Given the description of an element on the screen output the (x, y) to click on. 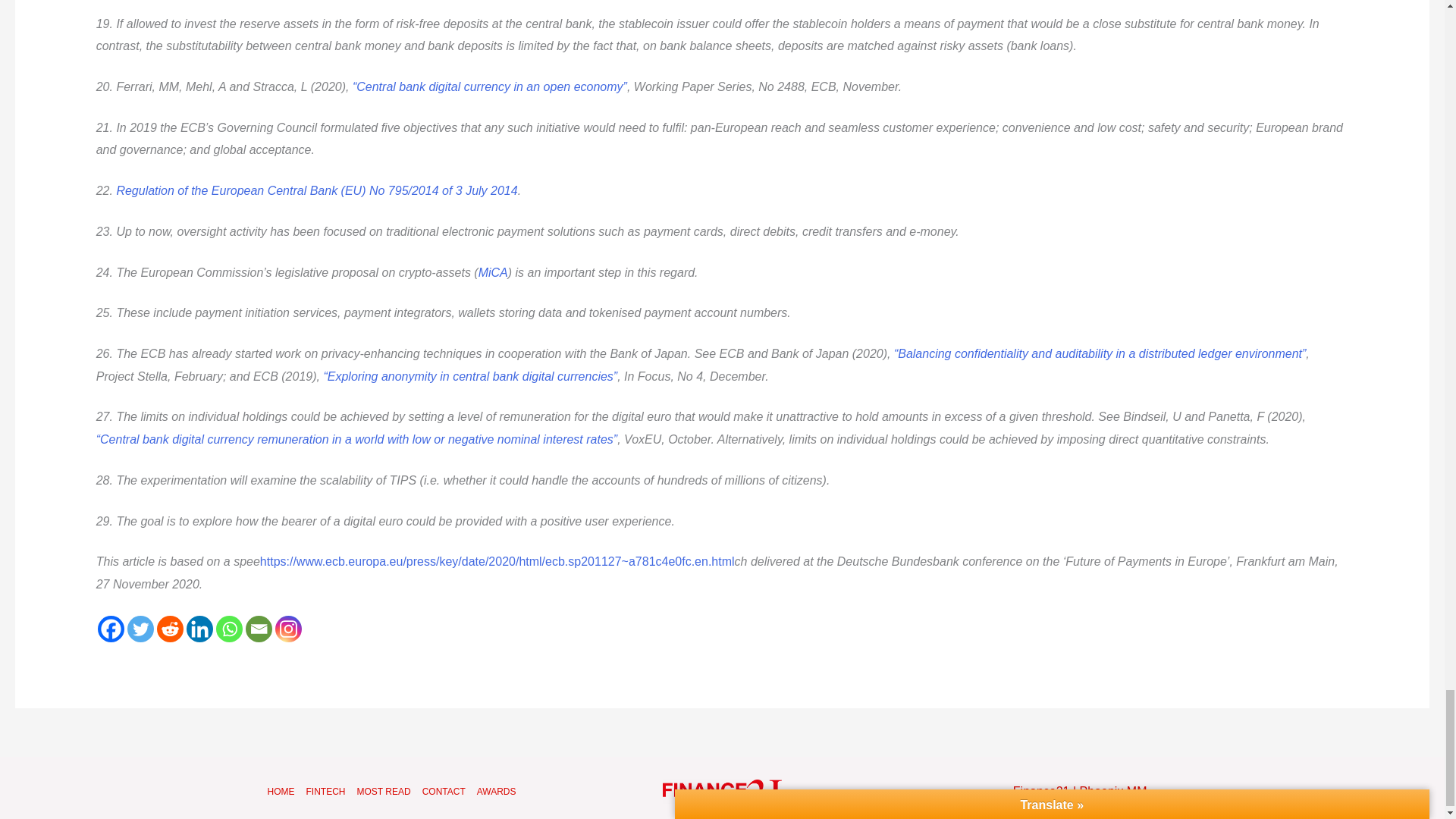
Instagram (288, 628)
Reddit (170, 628)
MiCA (493, 272)
Twitter (141, 628)
Email (259, 628)
Linkedin (199, 628)
Whatsapp (229, 628)
Facebook (110, 628)
